Given the description of an element on the screen output the (x, y) to click on. 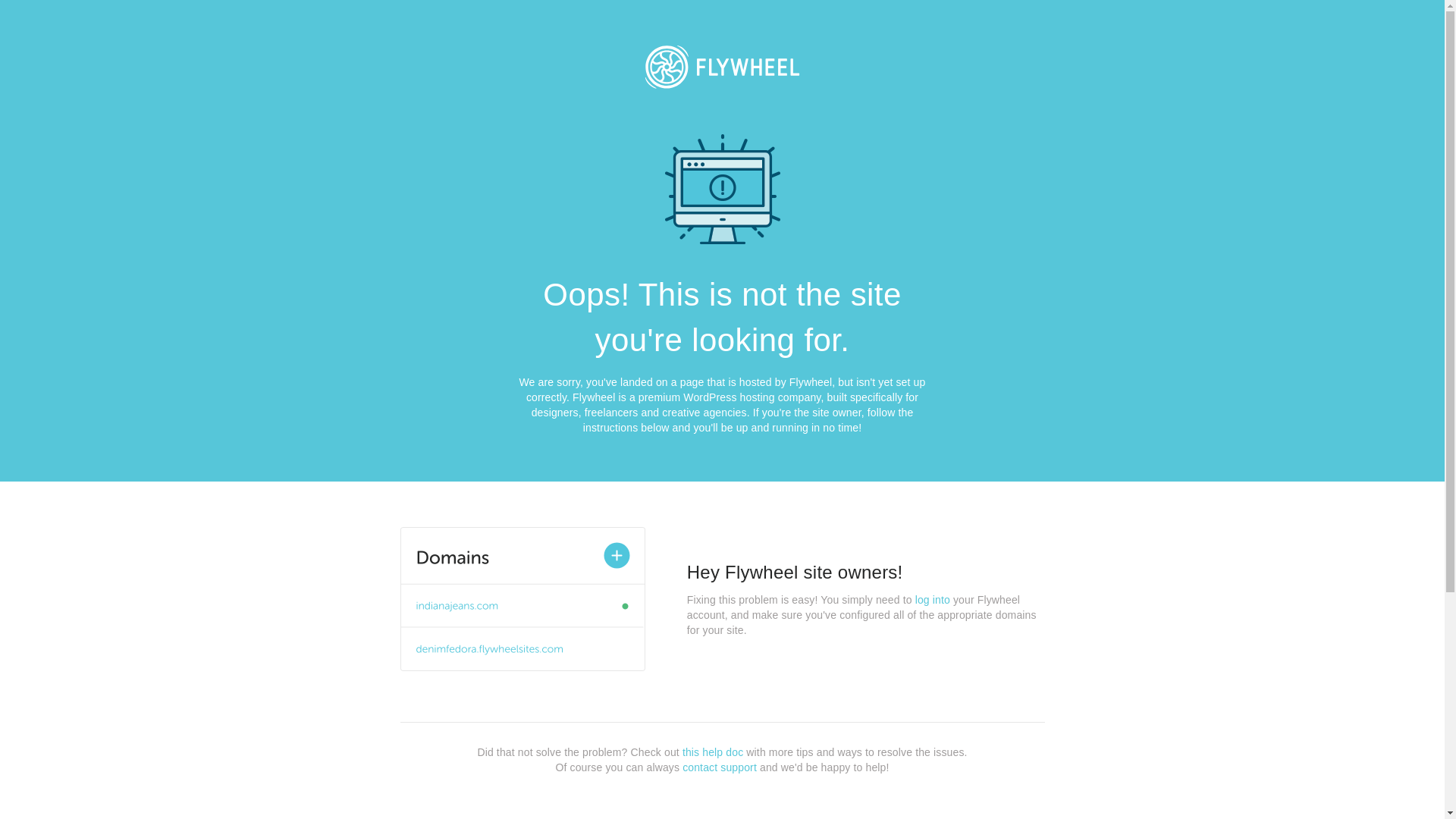
this help doc (712, 752)
log into (932, 599)
contact support (719, 767)
